Given the description of an element on the screen output the (x, y) to click on. 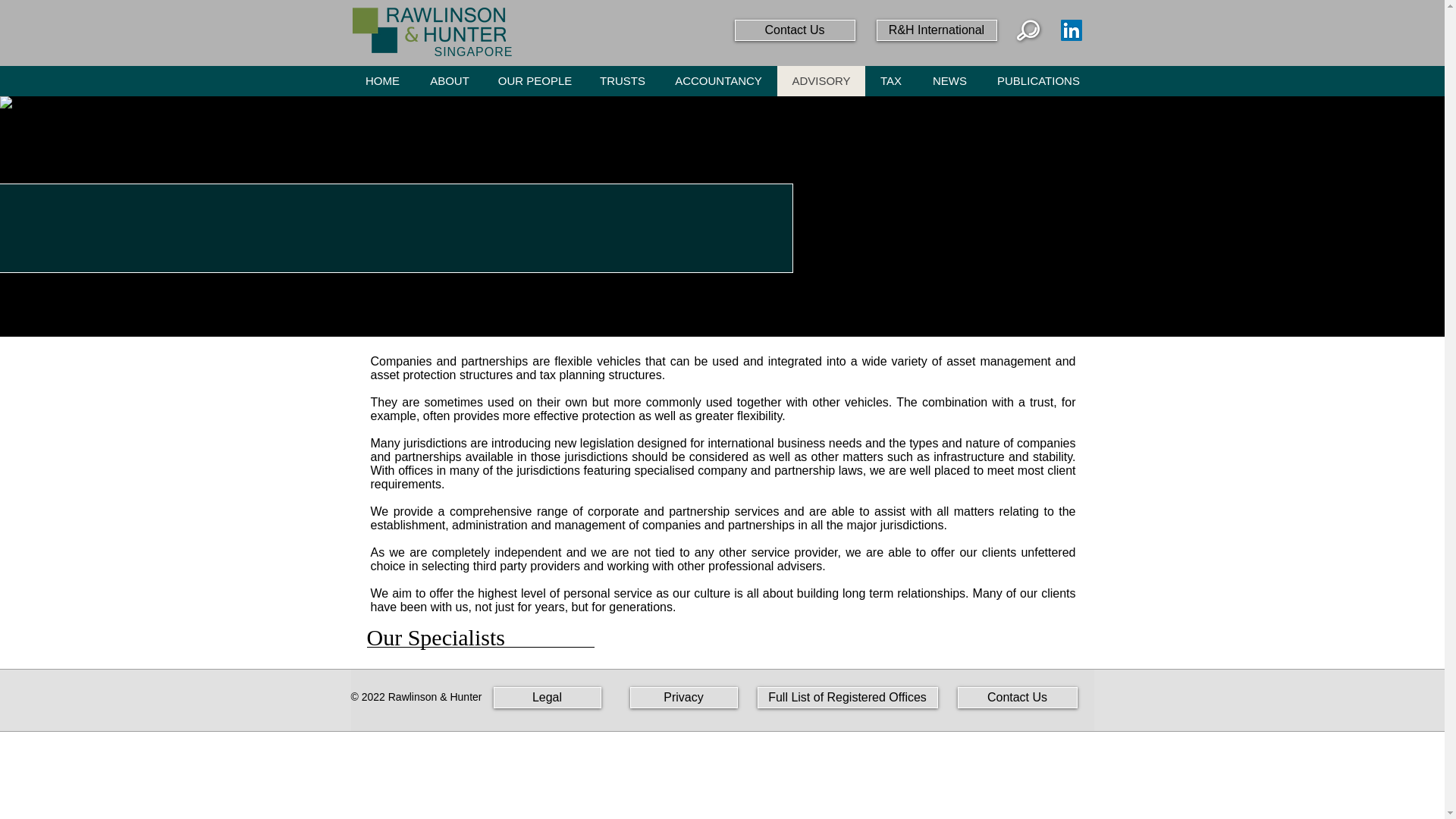
ACCOUNTANCY (718, 81)
PUBLICATIONS (1038, 81)
ADVISORY (820, 81)
Privacy (682, 697)
NEWS (948, 81)
TRUSTS (622, 81)
Contact Us (1016, 697)
Legal (546, 697)
OUR PEOPLE (534, 81)
Full List of Registered Offices (847, 697)
TAX (889, 81)
HOME (381, 81)
ABOUT (448, 81)
Contact Us (793, 29)
